Given the description of an element on the screen output the (x, y) to click on. 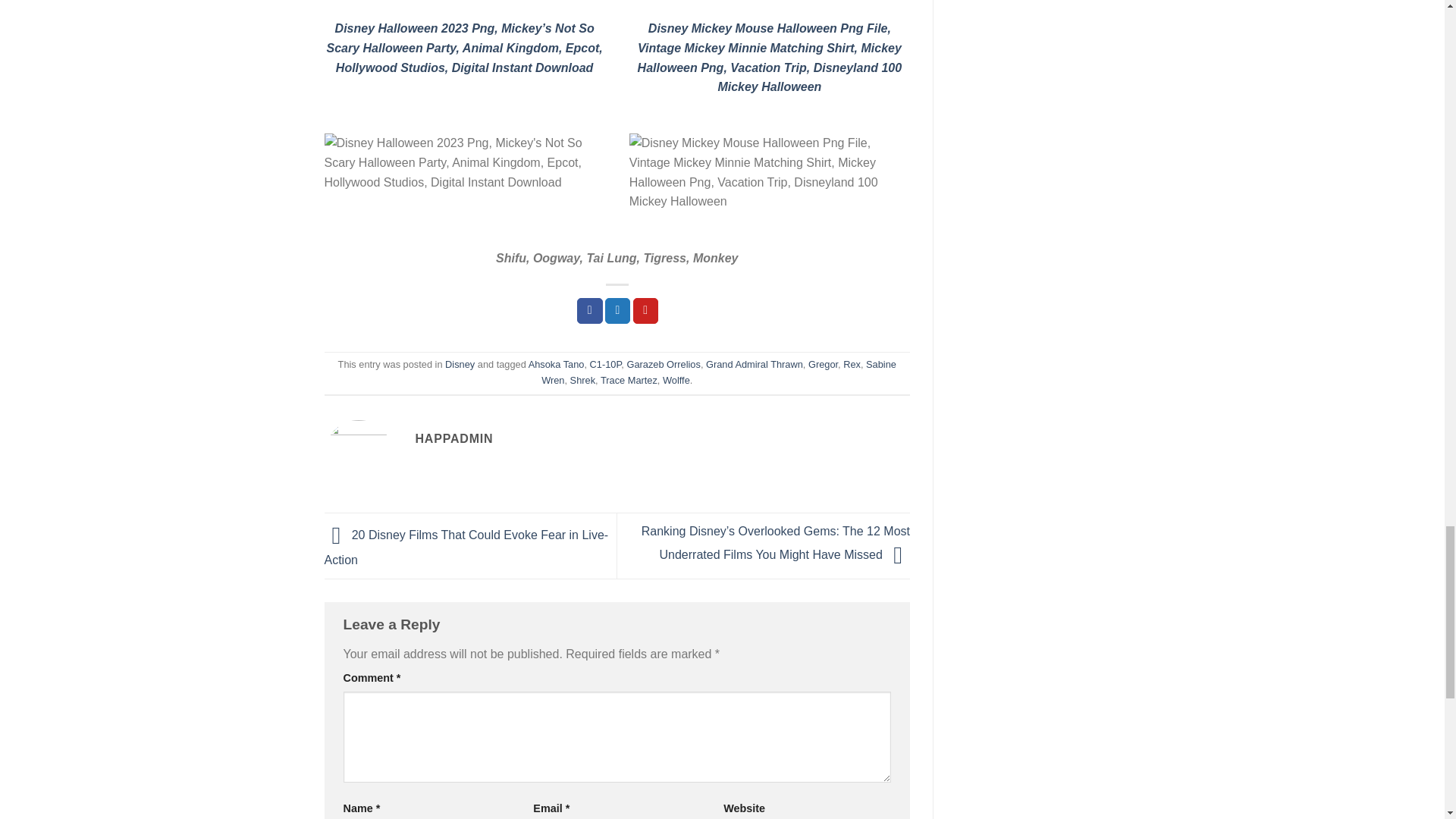
Garazeb Orrelios (663, 364)
20 Disney Films That Could Evoke Fear in Live-Action (466, 548)
Share on Twitter (617, 310)
Pin on Pinterest (646, 310)
Shrek (582, 379)
Disney (459, 364)
Grand Admiral Thrawn (754, 364)
Sabine Wren (718, 371)
Gregor (823, 364)
